Given the description of an element on the screen output the (x, y) to click on. 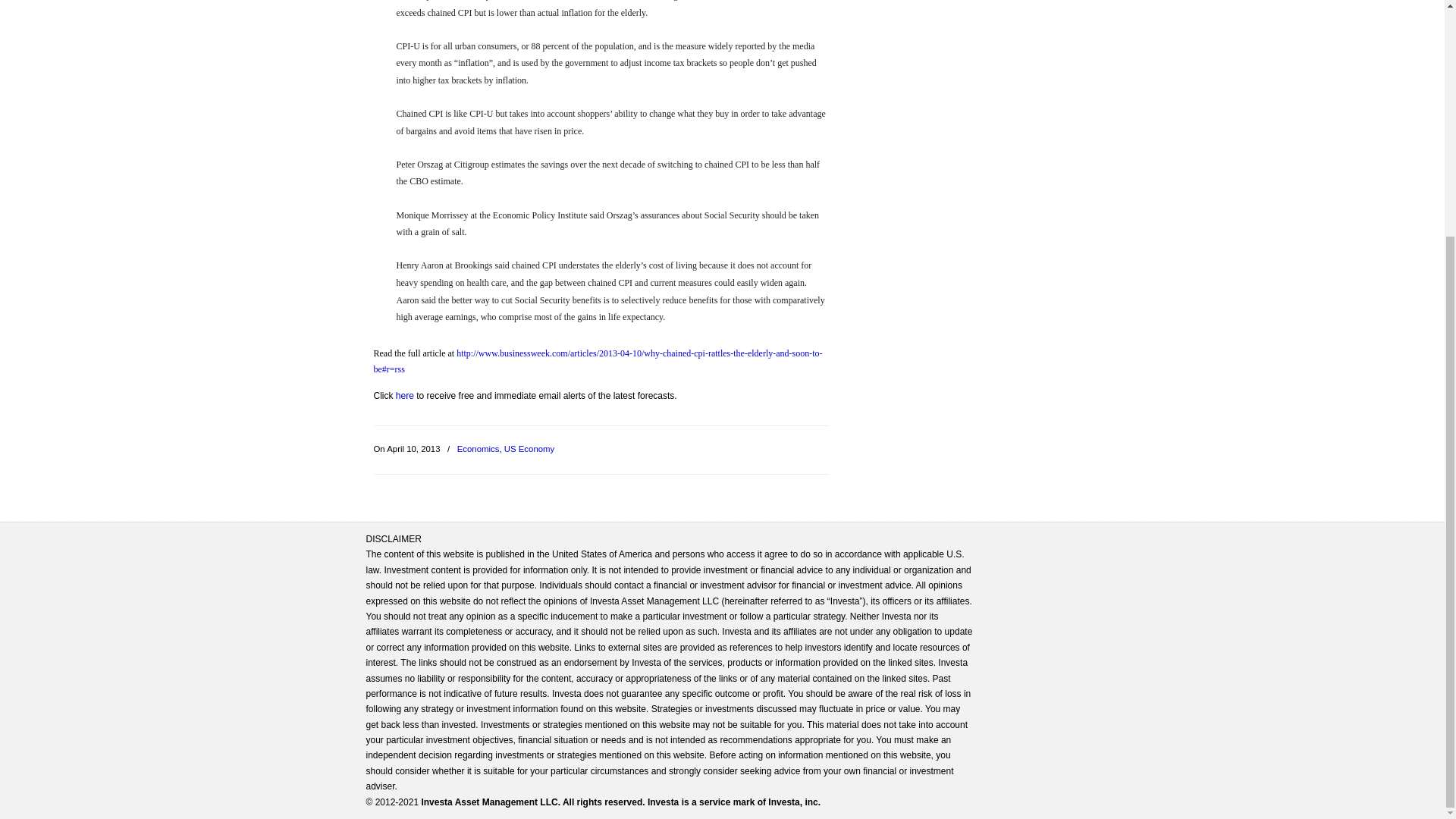
US Economy (528, 449)
here (404, 395)
Economics (478, 449)
